Given the description of an element on the screen output the (x, y) to click on. 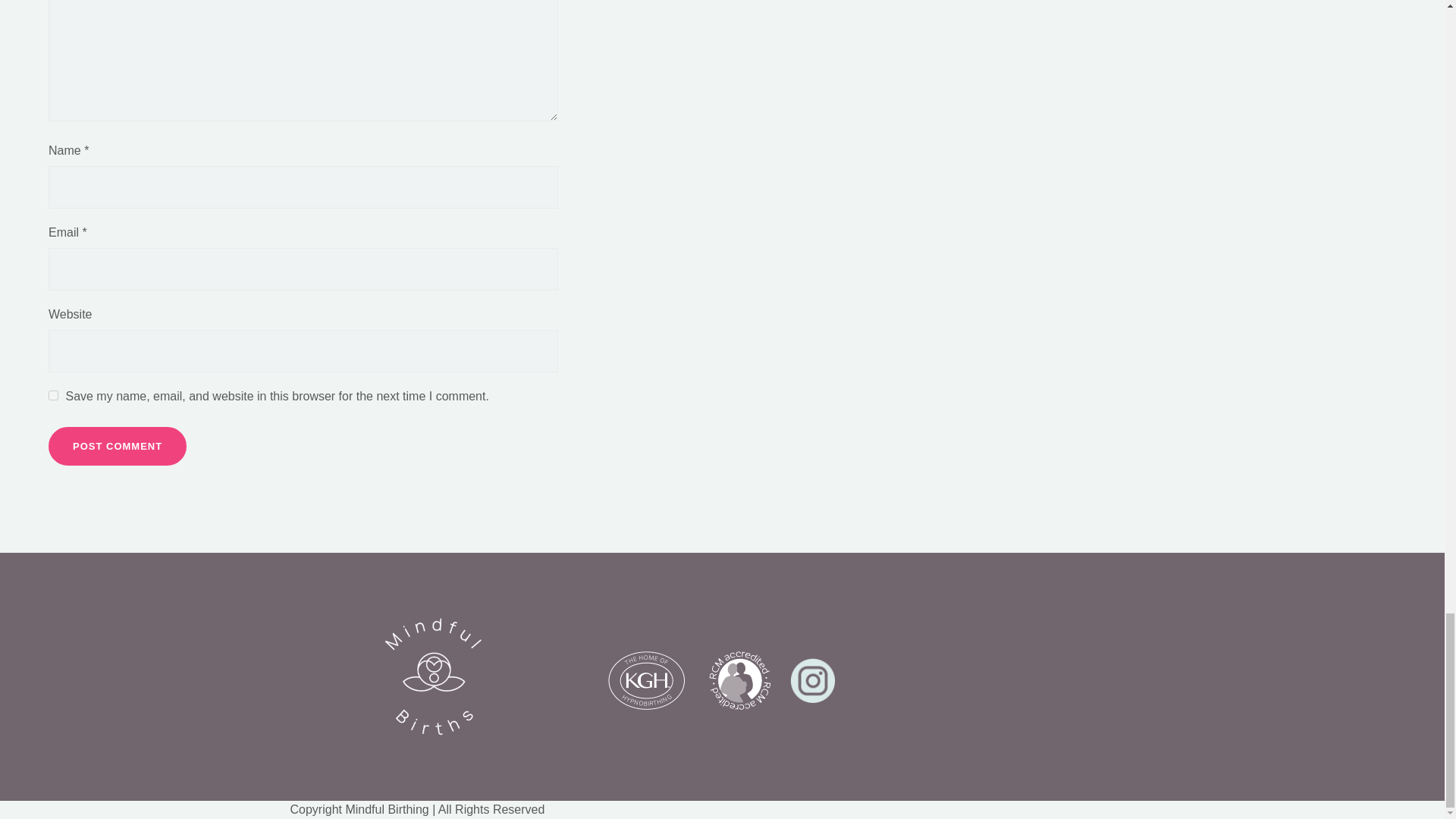
yes (53, 395)
Post Comment (117, 446)
Post Comment (117, 446)
